Given the description of an element on the screen output the (x, y) to click on. 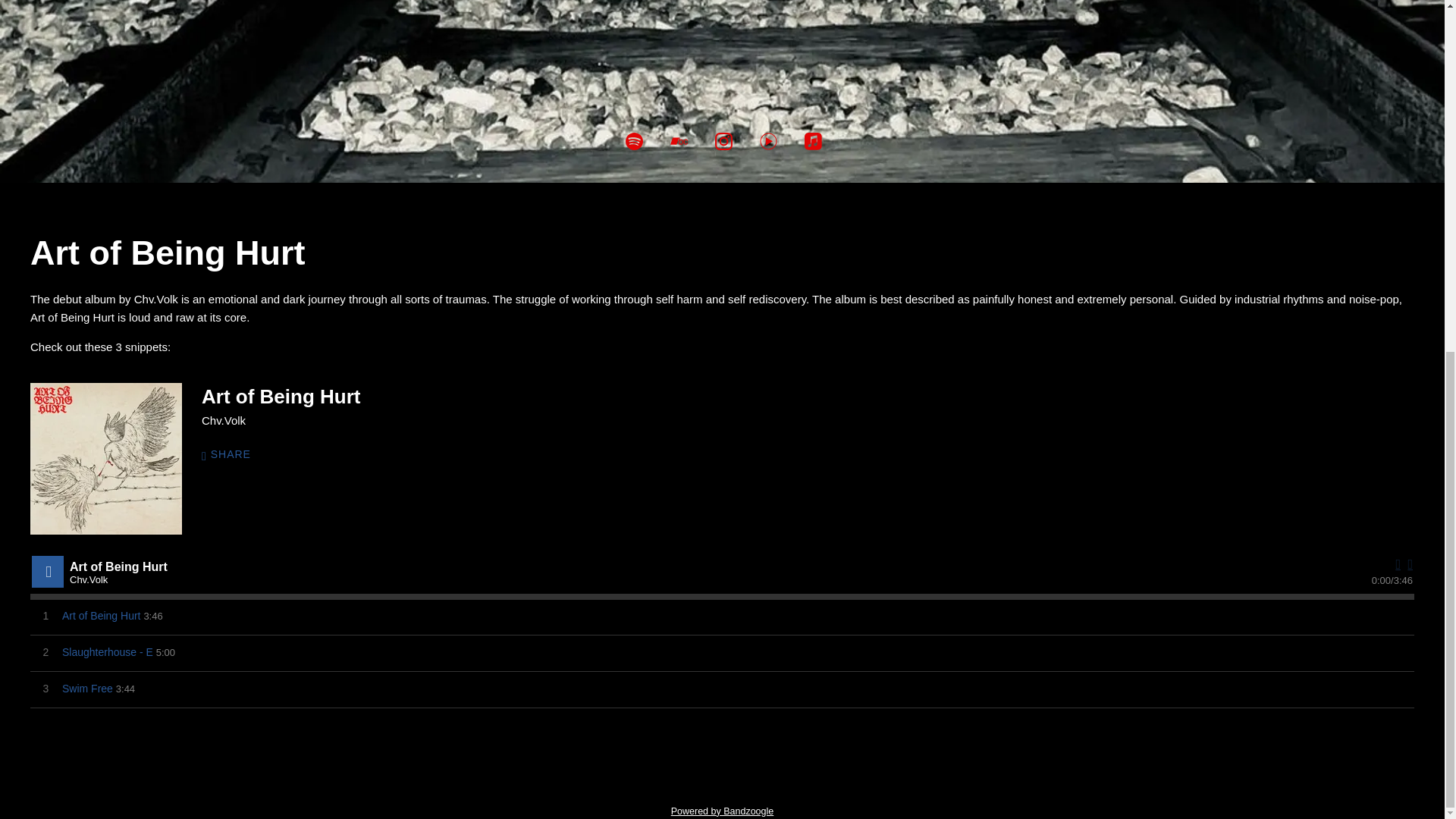
Art of Being Hurt (106, 458)
Art of Being Hurt (101, 616)
SHARE (234, 454)
Slaughterhouse - E (107, 652)
Share Art of Being Hurt (234, 454)
